Given the description of an element on the screen output the (x, y) to click on. 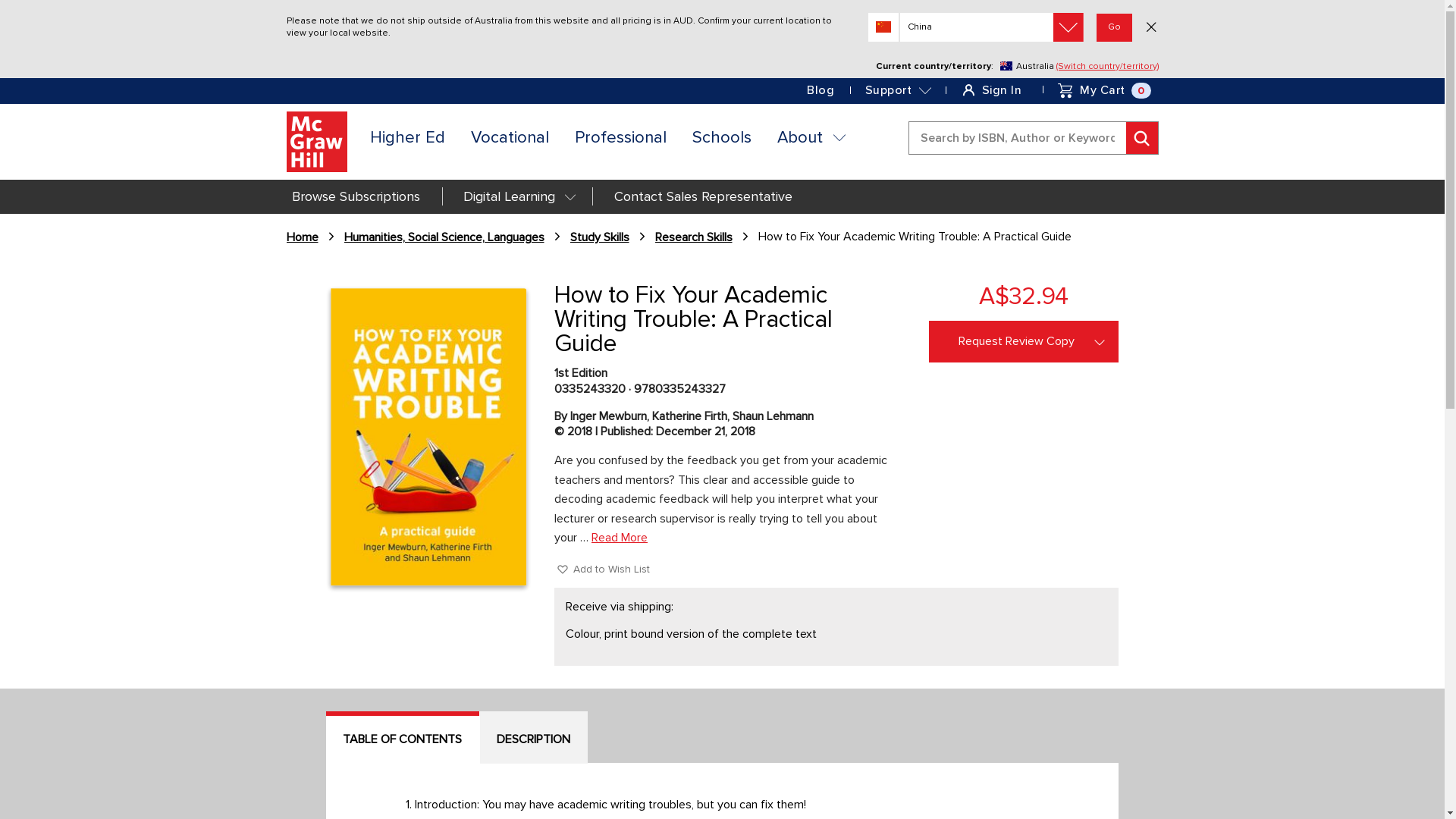
Skip to the end of the images gallery Element type: text (326, 283)
Higher Ed Element type: text (406, 138)
Schools Element type: text (721, 138)
DESCRIPTION Element type: text (533, 736)
Browse Subscriptions Element type: text (355, 196)
Study Skills Element type: text (599, 237)
Research Skills Element type: text (693, 237)
Search Element type: text (1141, 137)
Read More Element type: text (619, 538)
Skip to the beginning of the images gallery Element type: text (326, 593)
My Cart
0 Element type: text (1101, 90)
Search Element type: hover (1032, 137)
Go Element type: text (1114, 27)
McGraw Hill Australia & New Zealand Element type: hover (316, 141)
Sign In Element type: text (1001, 90)
Close Element type: text (1150, 27)
Digital Learning Element type: text (516, 196)
(Switch country/territory) Element type: text (1106, 66)
Blog Element type: text (820, 90)
Contact Sales Representative Element type: text (702, 196)
About Element type: text (807, 138)
Humanities, Social Science, Languages Element type: text (444, 237)
Support Element type: text (897, 90)
Home Element type: text (302, 237)
TABLE OF CONTENTS Element type: text (402, 736)
Skip to Content Element type: text (1157, 90)
Professional Element type: text (619, 138)
Add to Wish List Element type: text (603, 568)
Vocational Element type: text (509, 138)
